Given the description of an element on the screen output the (x, y) to click on. 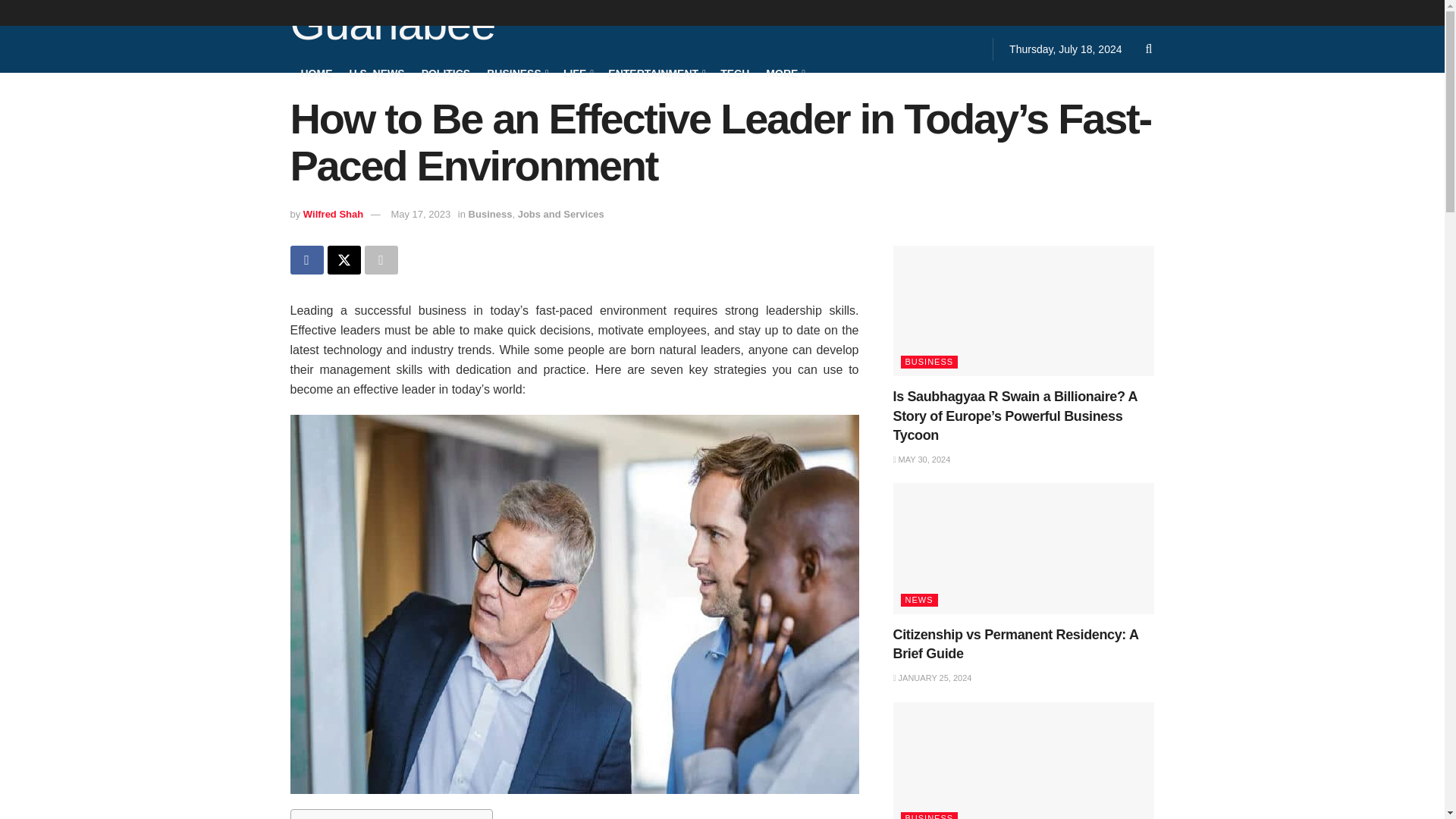
Wilfred Shah (332, 214)
ENTERTAINMENT (655, 73)
Jobs and Services (561, 214)
Guanabee (392, 25)
BUSINESS (516, 73)
U.S. NEWS (376, 73)
May 17, 2023 (419, 214)
POLITICS (446, 73)
Business (490, 214)
